Given the description of an element on the screen output the (x, y) to click on. 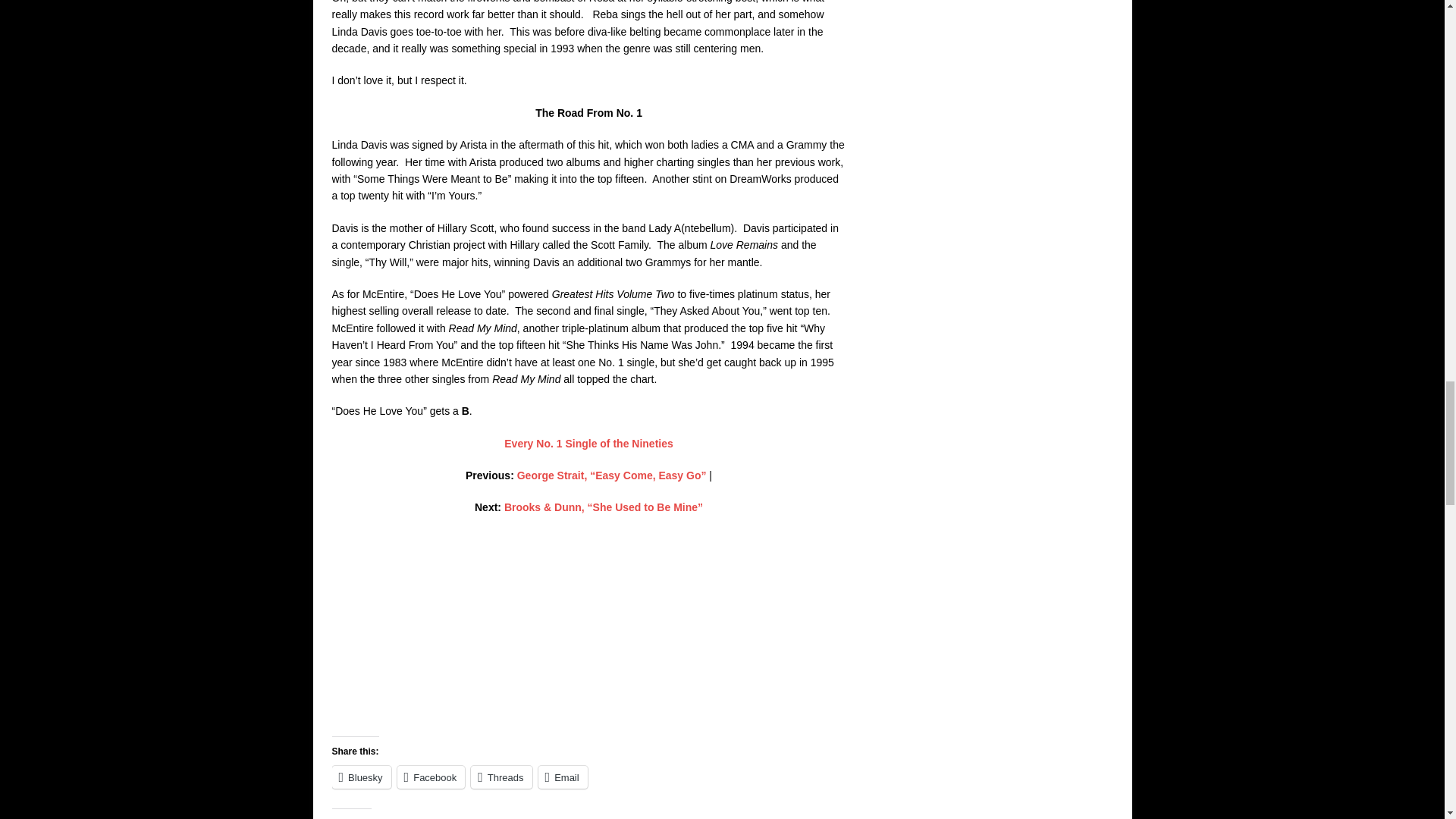
Click to email a link to a friend (563, 776)
YouTube player (589, 633)
Click to share on Threads (500, 776)
Click to share on Bluesky (361, 776)
Click to share on Facebook (431, 776)
